Given the description of an element on the screen output the (x, y) to click on. 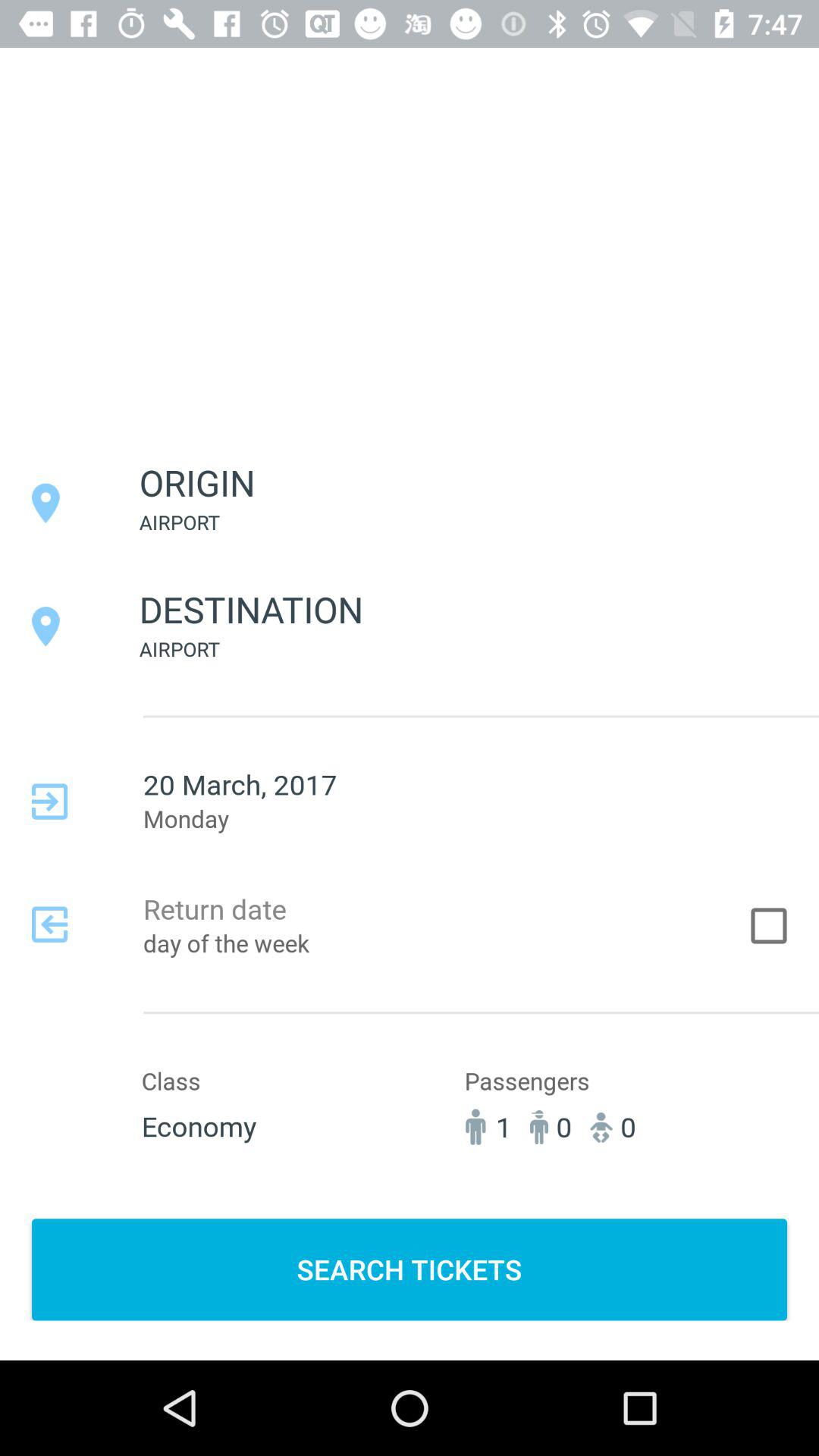
choose the second location symbol from the top (45, 626)
go to passengers (576, 1113)
click on the empty square next to return date (768, 925)
click on the arrow icon under the destination (49, 801)
